Given the description of an element on the screen output the (x, y) to click on. 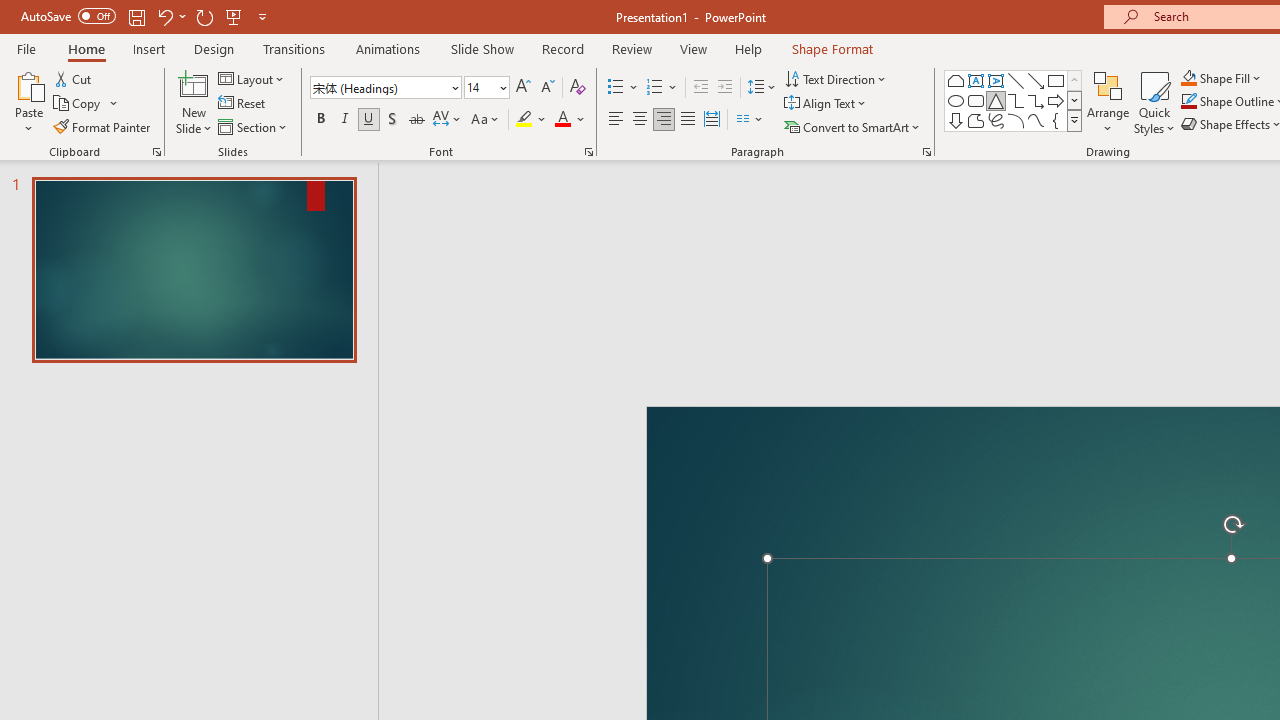
Shape Fill Orange, Accent 2 (1188, 78)
